Given the description of an element on the screen output the (x, y) to click on. 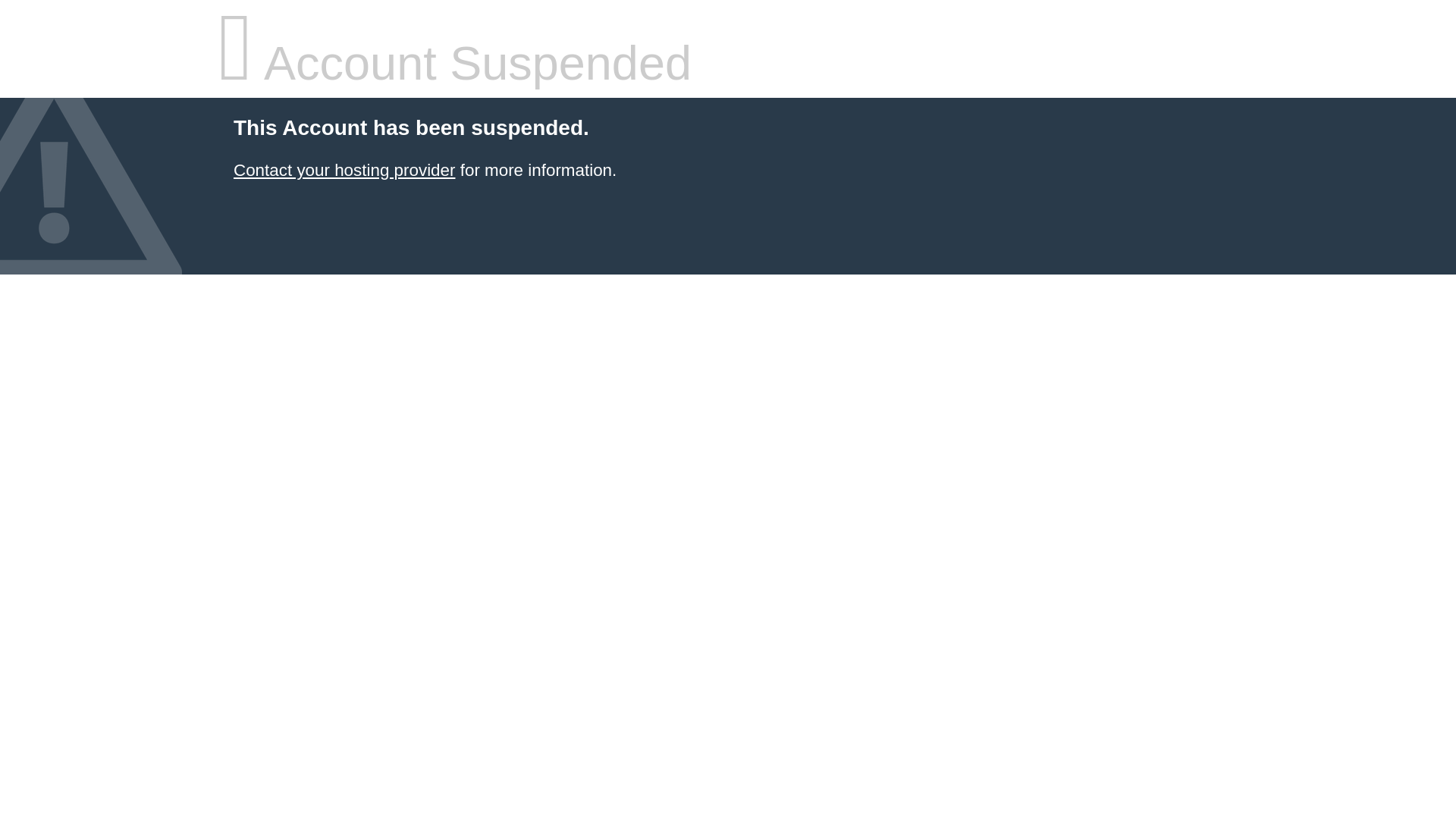
Contact your hosting provider (343, 169)
